Given the description of an element on the screen output the (x, y) to click on. 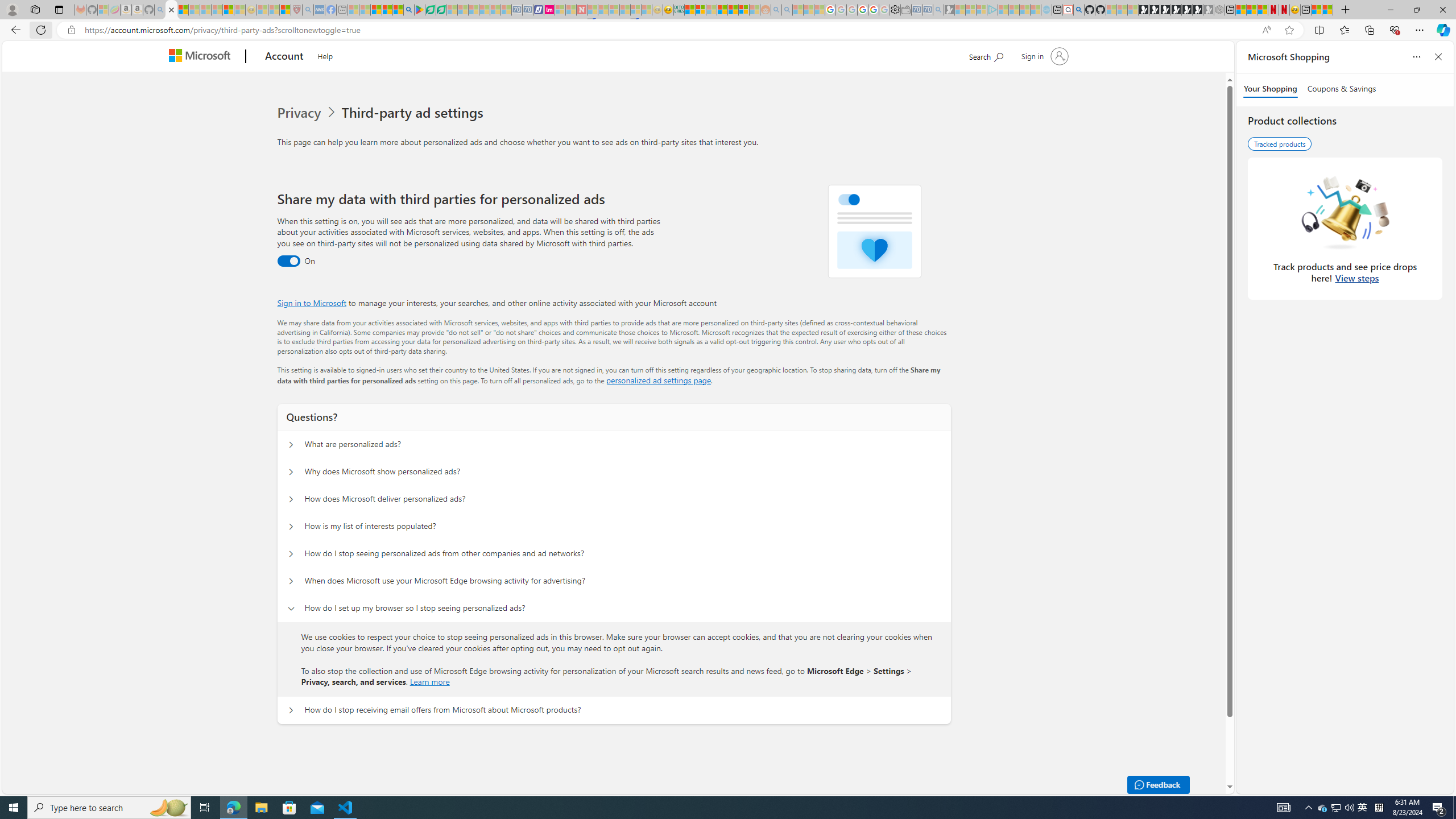
Microsoft Word - consumer-privacy address update 2.2021 (440, 9)
Bluey: Let's Play! - Apps on Google Play (419, 9)
